Given the description of an element on the screen output the (x, y) to click on. 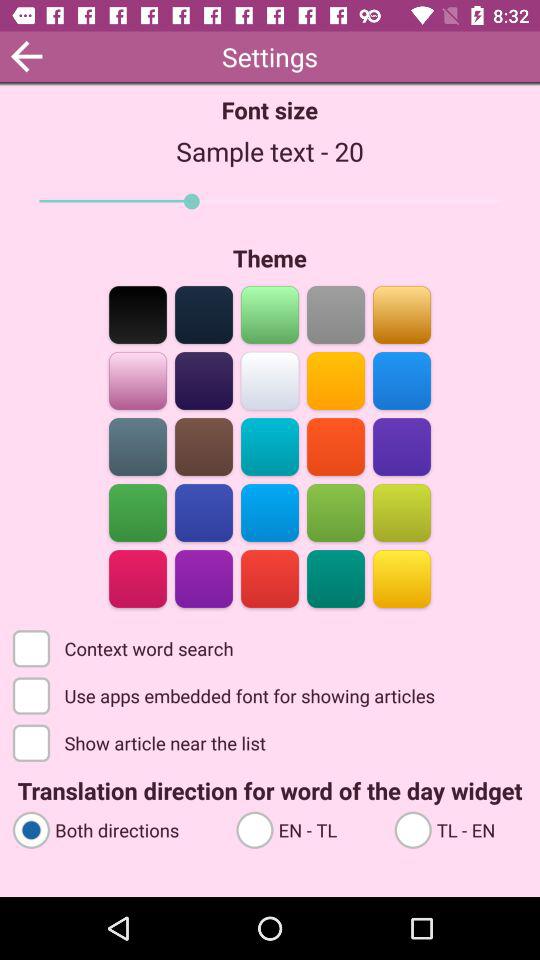
changes the theme to blue (203, 511)
